Given the description of an element on the screen output the (x, y) to click on. 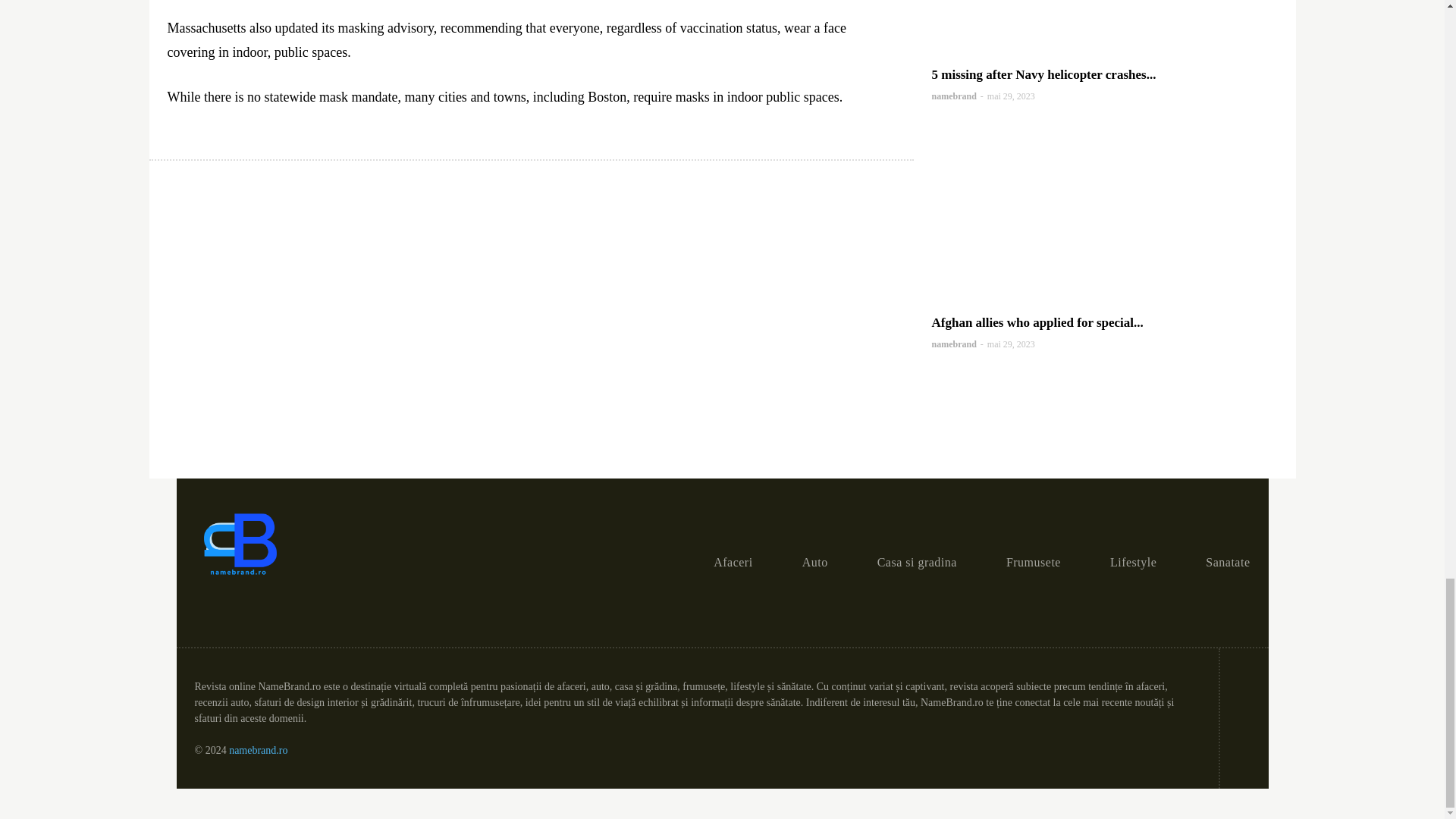
Auto (815, 562)
Afghan allies who applied for special... (1036, 322)
Casa si gradina (916, 562)
5 missing after Navy helicopter crashes... (1043, 74)
Afaceri (732, 562)
namebrand (953, 95)
namebrand (953, 344)
Frumusete (1033, 562)
